Given the description of an element on the screen output the (x, y) to click on. 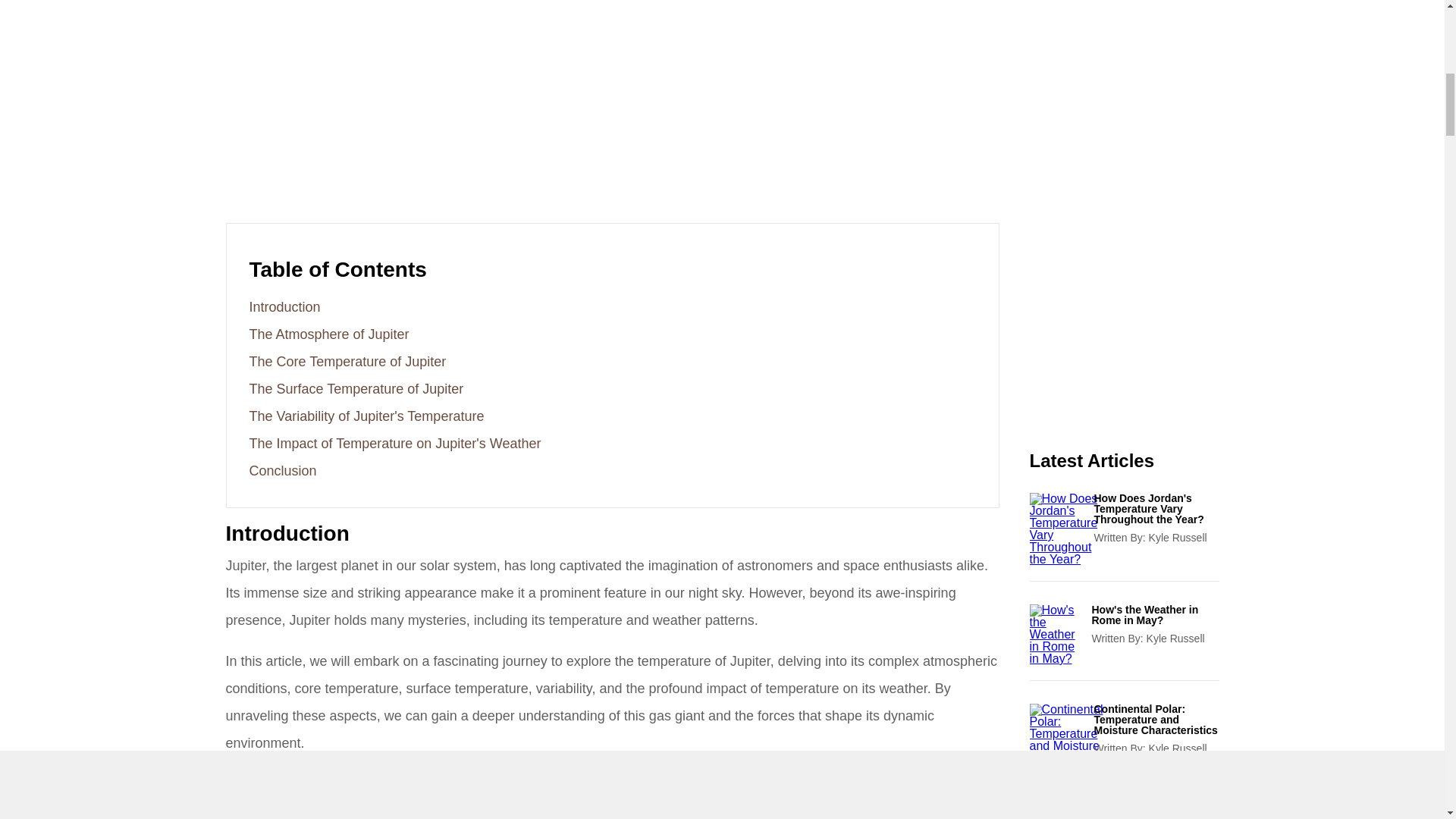
The Core Temperature of Jupiter (346, 361)
The Surface Temperature of Jupiter (355, 388)
The Atmosphere of Jupiter (328, 334)
Introduction (284, 306)
